Given the description of an element on the screen output the (x, y) to click on. 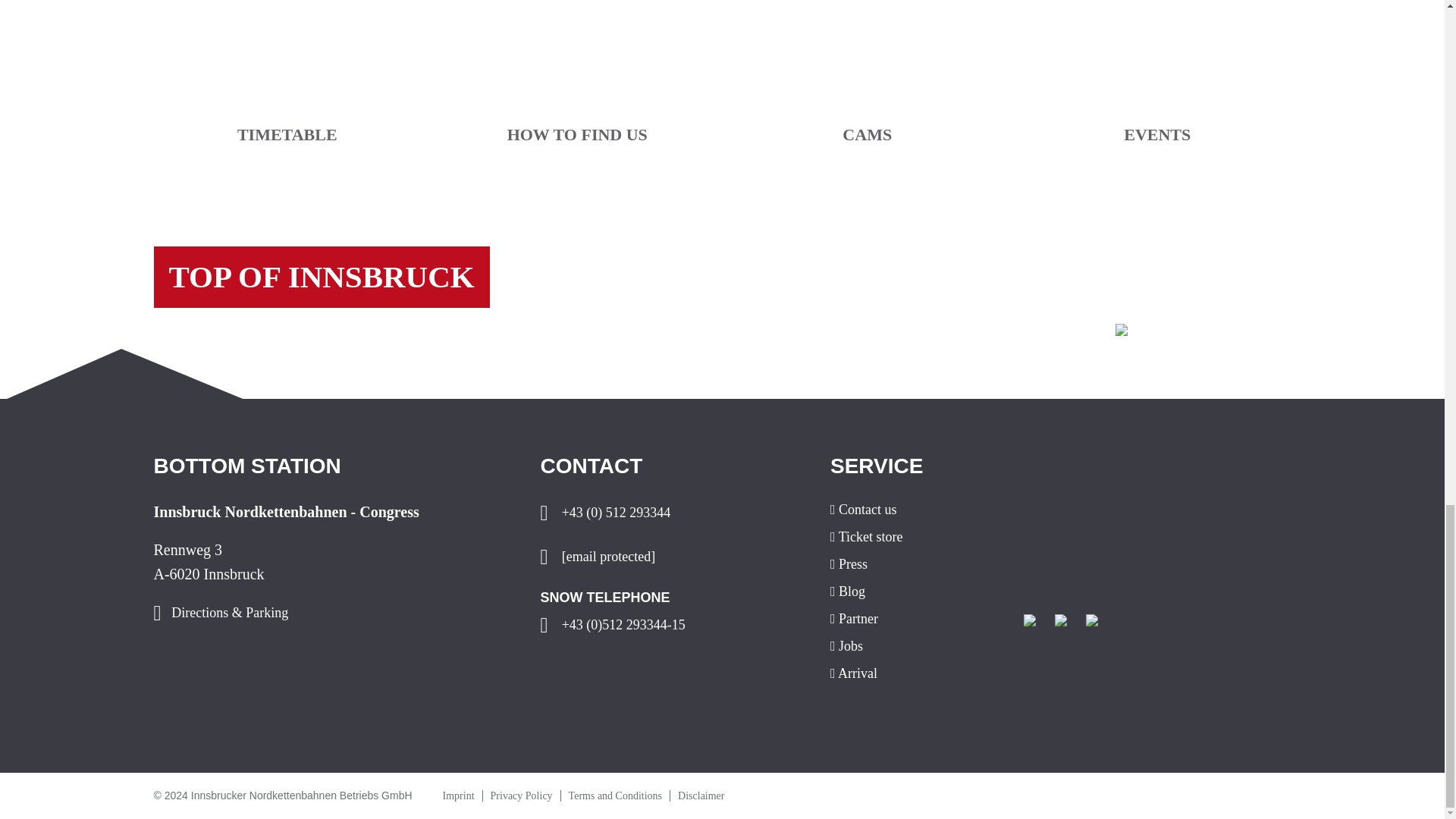
Press (915, 564)
Ticket store (915, 537)
Contact us (915, 509)
